Given the description of an element on the screen output the (x, y) to click on. 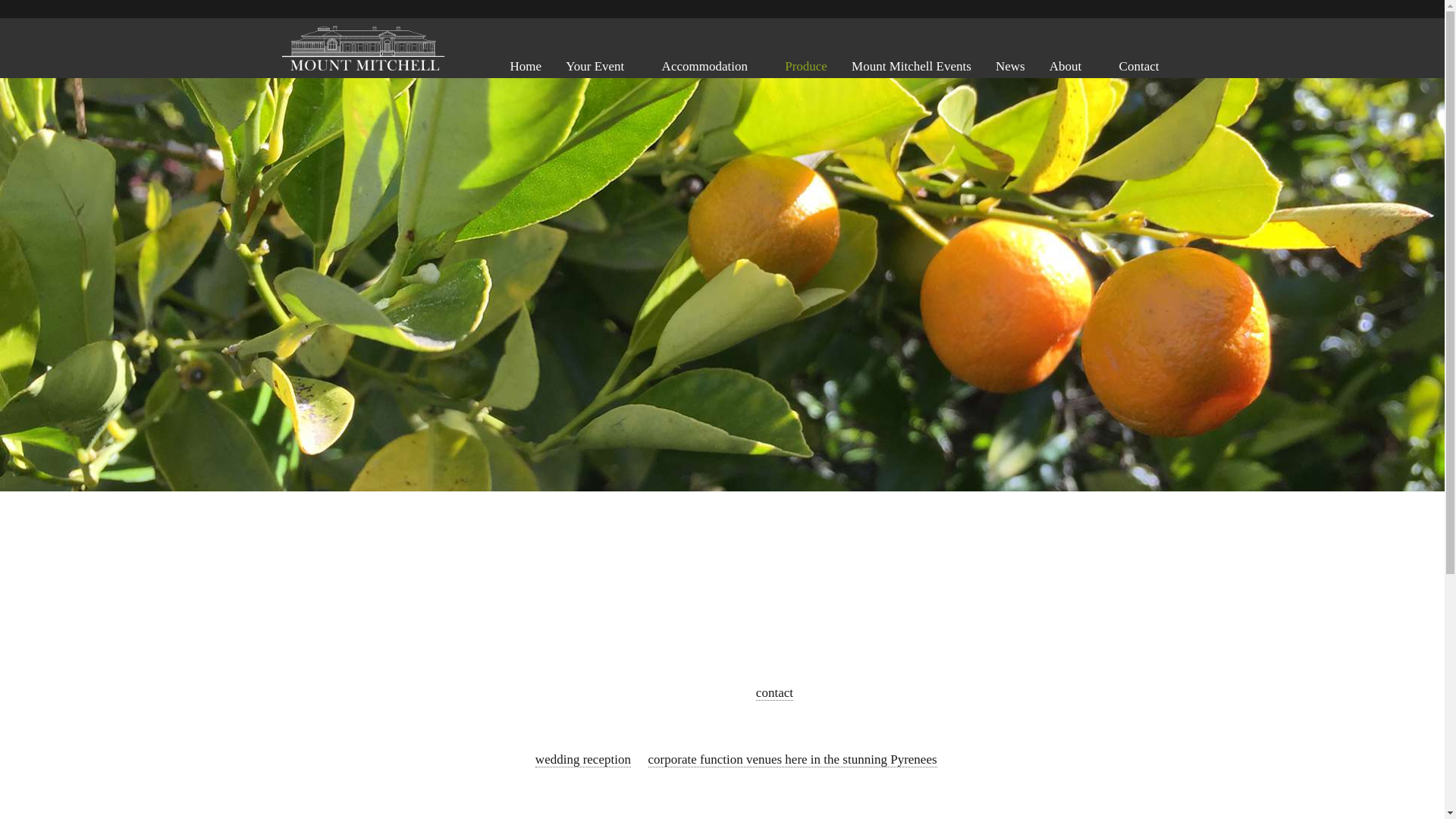
wedding reception Element type: text (582, 759)
About Element type: text (1065, 66)
Your Event Element type: text (594, 66)
Mount Mitchell Events Element type: text (911, 66)
Contact Element type: text (1139, 66)
News Element type: text (1010, 66)
Home Element type: text (525, 66)
corporate function venues here in the stunning Pyrenees Element type: text (792, 759)
contact Element type: text (774, 692)
Accommodation Element type: text (704, 66)
Produce Element type: text (805, 66)
